Given the description of an element on the screen output the (x, y) to click on. 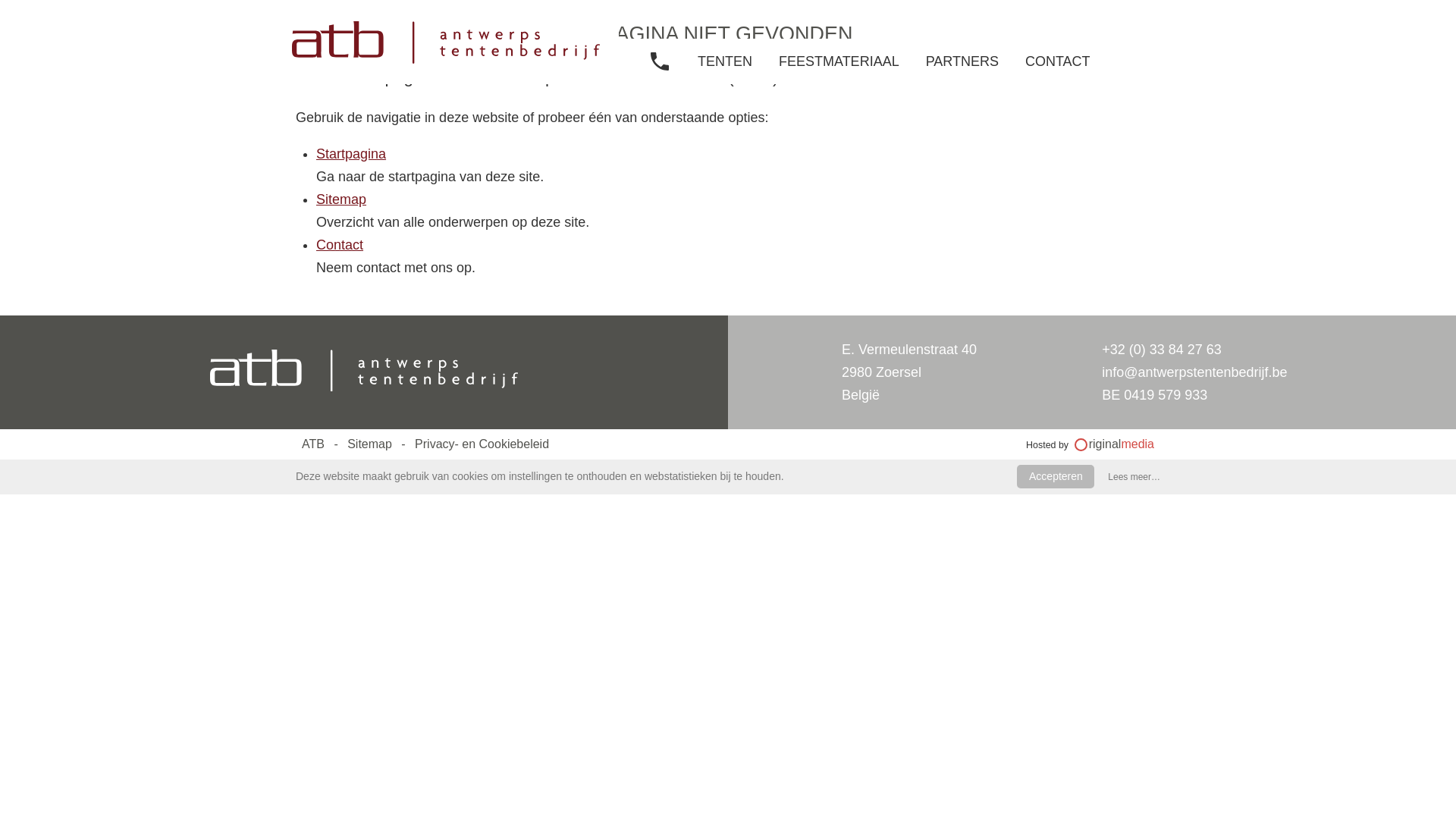
riginalmedia Element type: text (1114, 444)
TENTEN Element type: text (724, 61)
+32 (0) 33 84 27 63 Element type: text (1161, 348)
Sitemap Element type: text (365, 444)
FEESTMATERIAAL Element type: text (838, 61)
ATB - Tentenverhuur Element type: hover (445, 42)
+32 (0) 33 84 27 63 Element type: text (1103, 18)
Accepteren Element type: text (1055, 476)
Sitemap Element type: text (341, 198)
PARTNERS Element type: text (962, 61)
ATB - Tentenverhuur Element type: hover (363, 371)
Startpagina Element type: text (350, 152)
Facebook Element type: text (1165, 18)
info@antwerpstentenbedrijf.be Element type: text (1134, 18)
CONTACT Element type: text (1057, 61)
ATB Element type: text (312, 444)
info@antwerpstentenbedrijf.be Element type: text (1193, 371)
Privacy- en Cookiebeleid Element type: text (478, 444)
Contact Element type: text (339, 243)
